Given the description of an element on the screen output the (x, y) to click on. 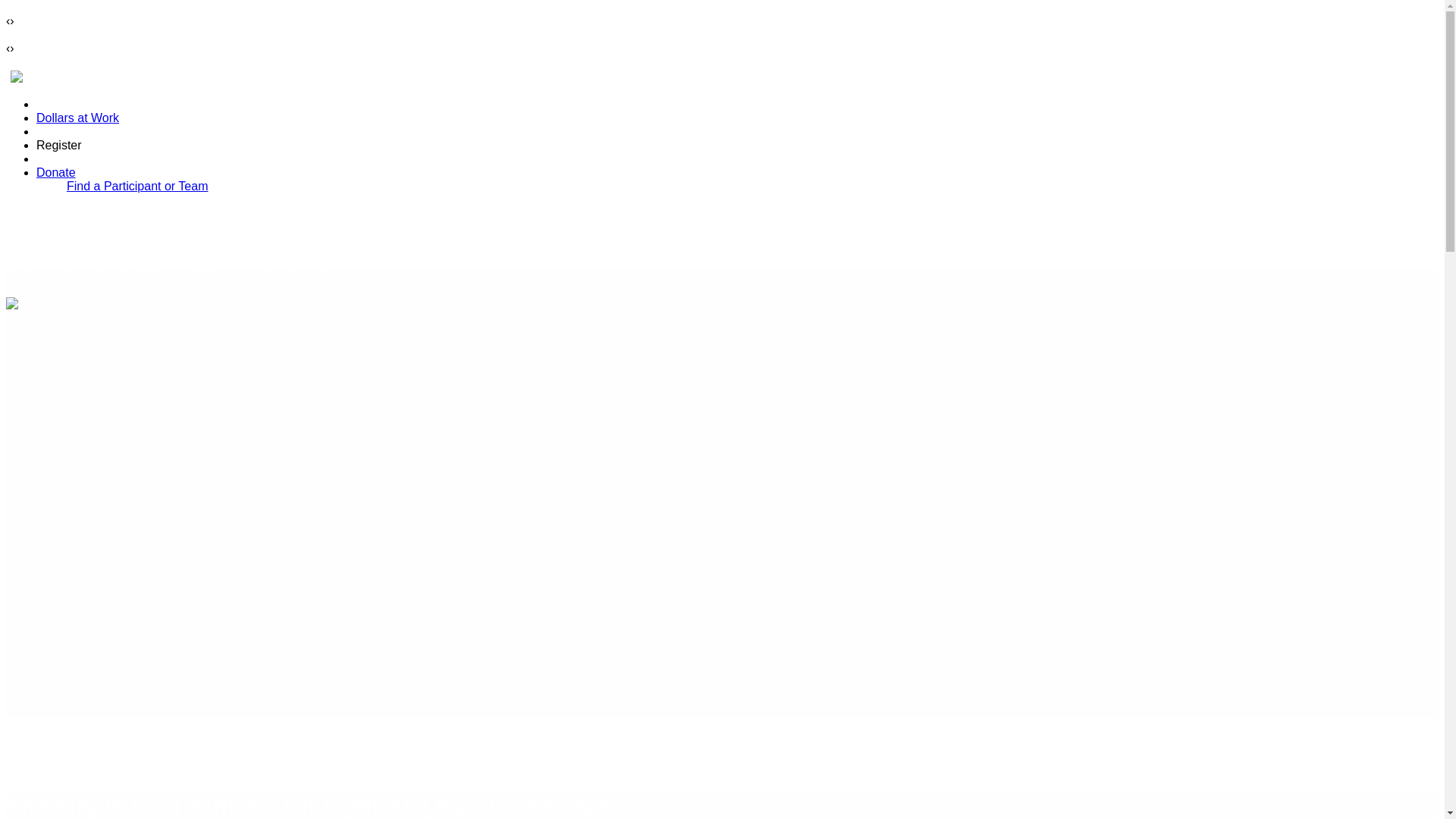
Register (58, 144)
Dollars at Work (77, 117)
Donate (55, 172)
Find a Participant or Team (137, 185)
